Given the description of an element on the screen output the (x, y) to click on. 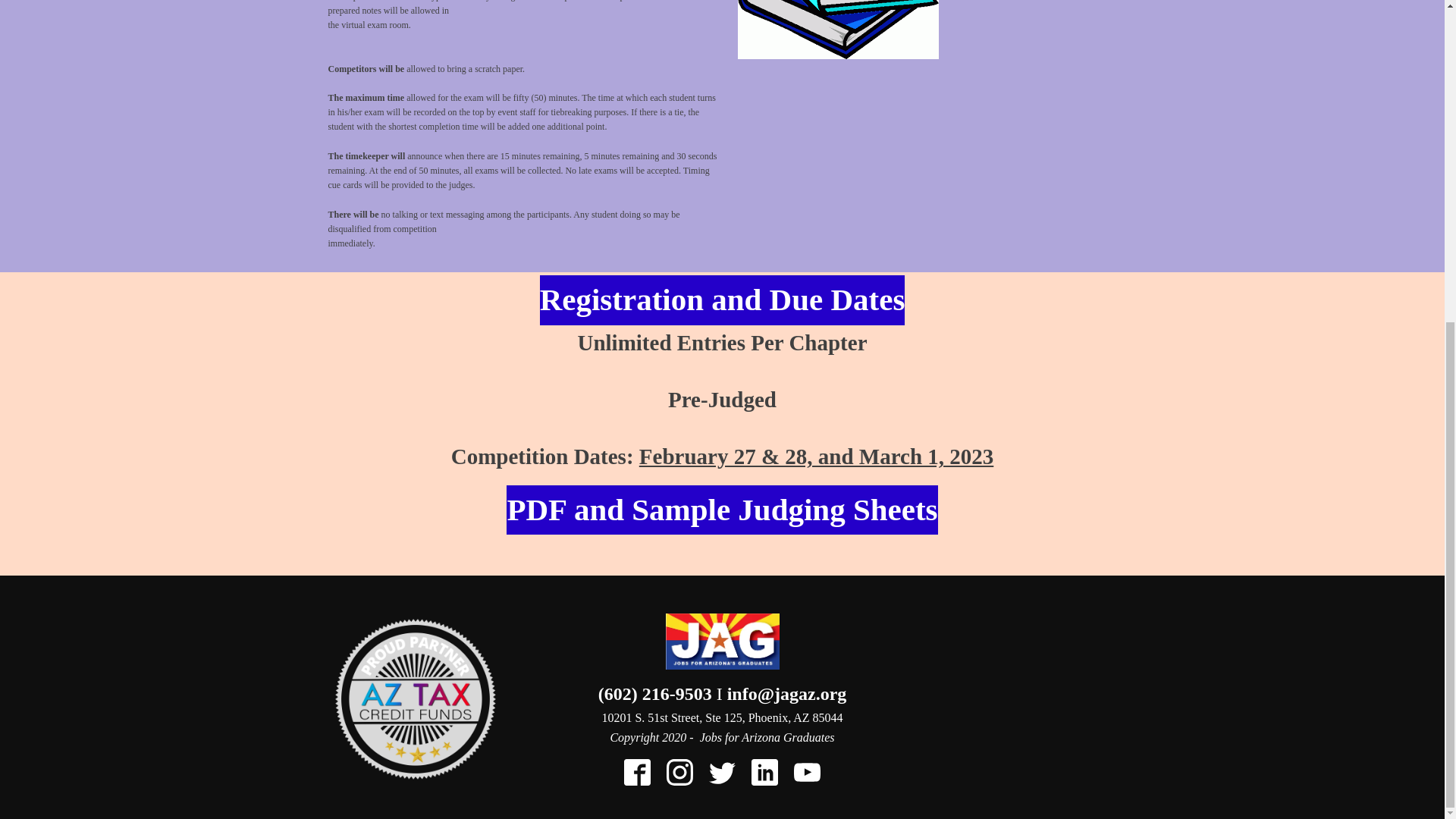
PDF and Sample Judging Sheets (721, 510)
